Given the description of an element on the screen output the (x, y) to click on. 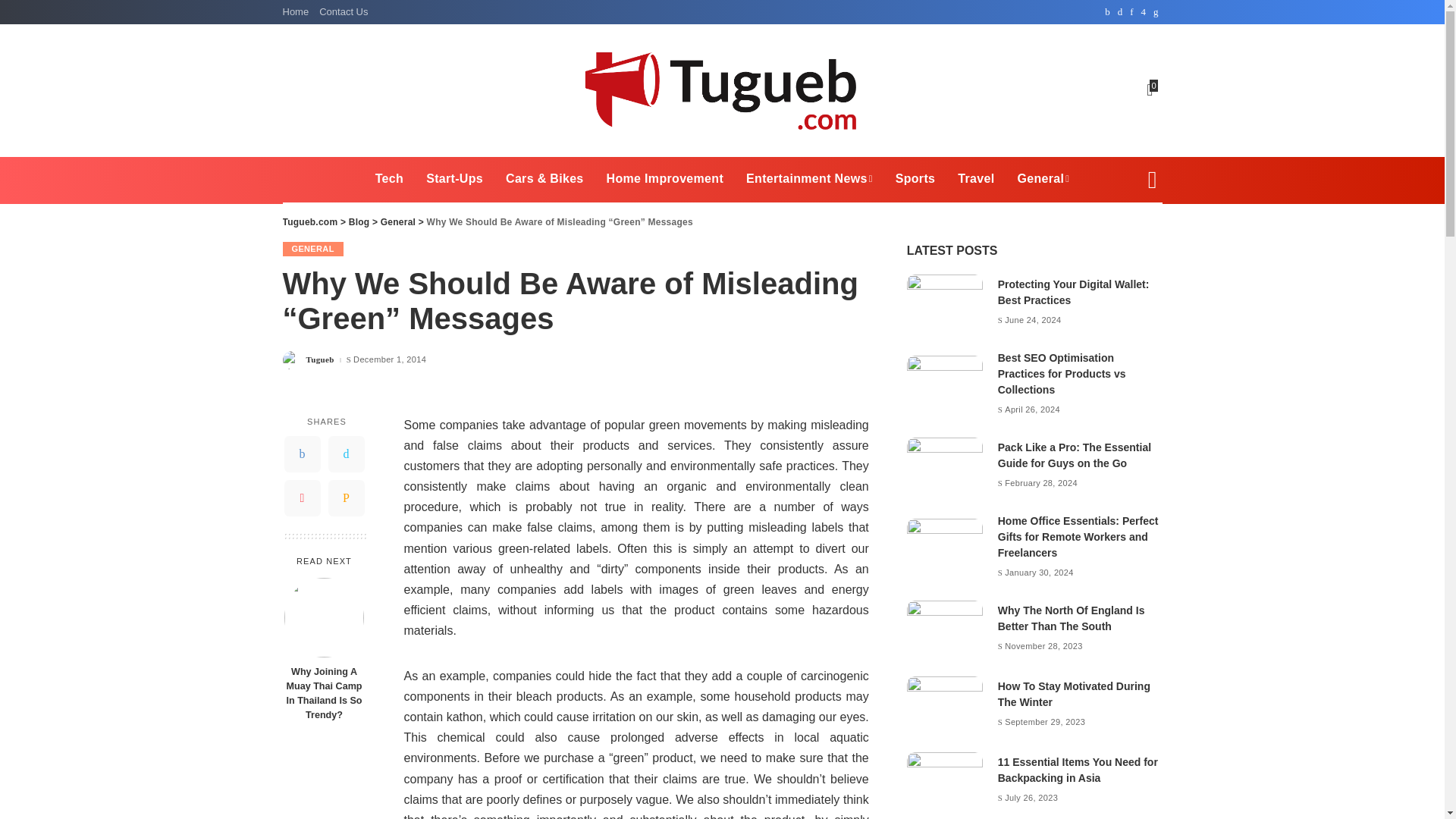
Contact Us (343, 12)
Home (298, 12)
Tugueb.com (722, 90)
Go to the General Category archives. (397, 222)
Start-Ups (454, 179)
Tech (389, 179)
Home Improvement (665, 179)
Entertainment News (809, 179)
Go to Tugueb.com. (309, 222)
Go to Blog. (359, 222)
